Given the description of an element on the screen output the (x, y) to click on. 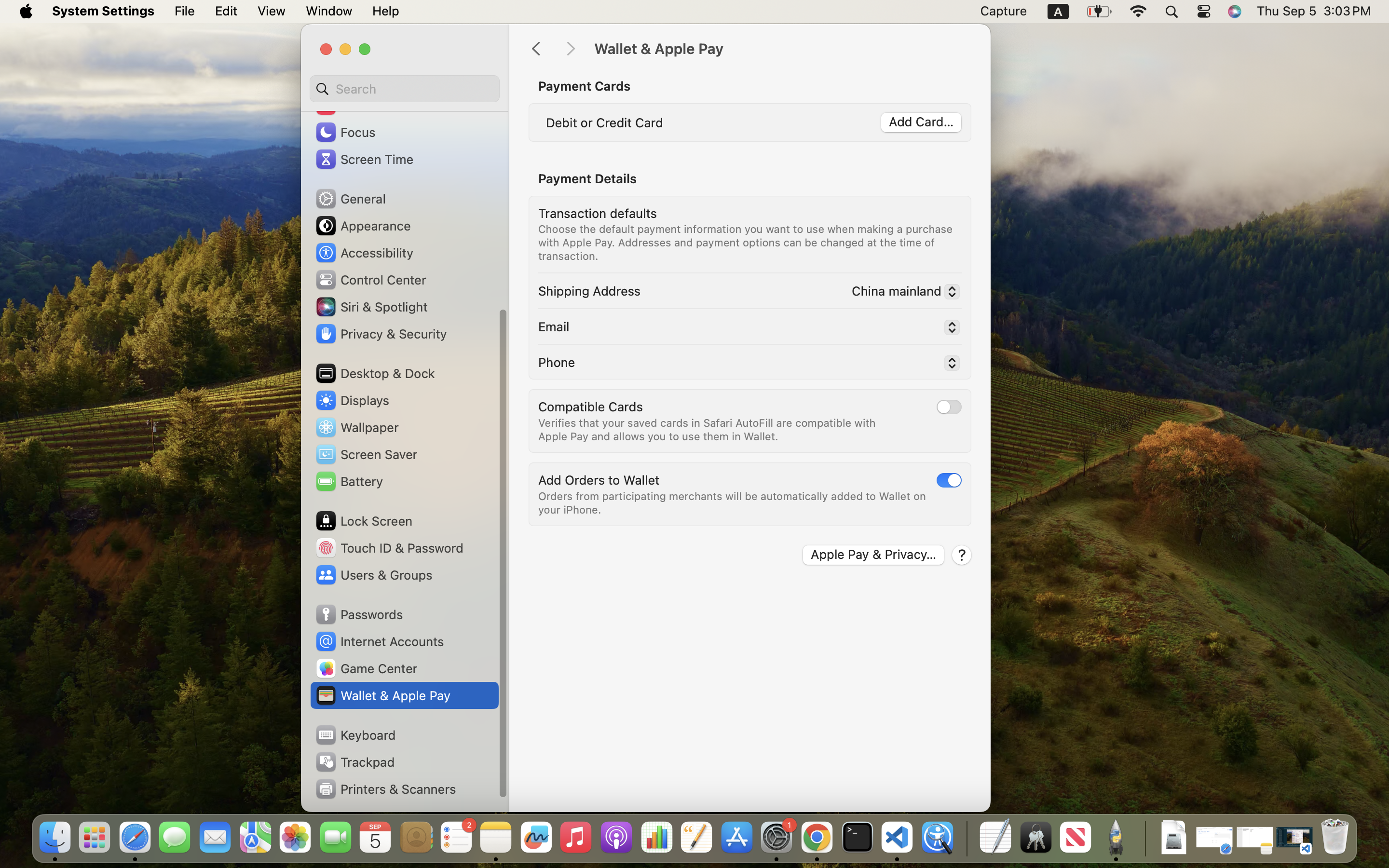
Appearance Element type: AXStaticText (362, 225)
Internet Accounts Element type: AXStaticText (378, 640)
Control Center Element type: AXStaticText (370, 279)
Compatible Cards Element type: AXStaticText (590, 405)
Accessibility Element type: AXStaticText (363, 252)
